Given the description of an element on the screen output the (x, y) to click on. 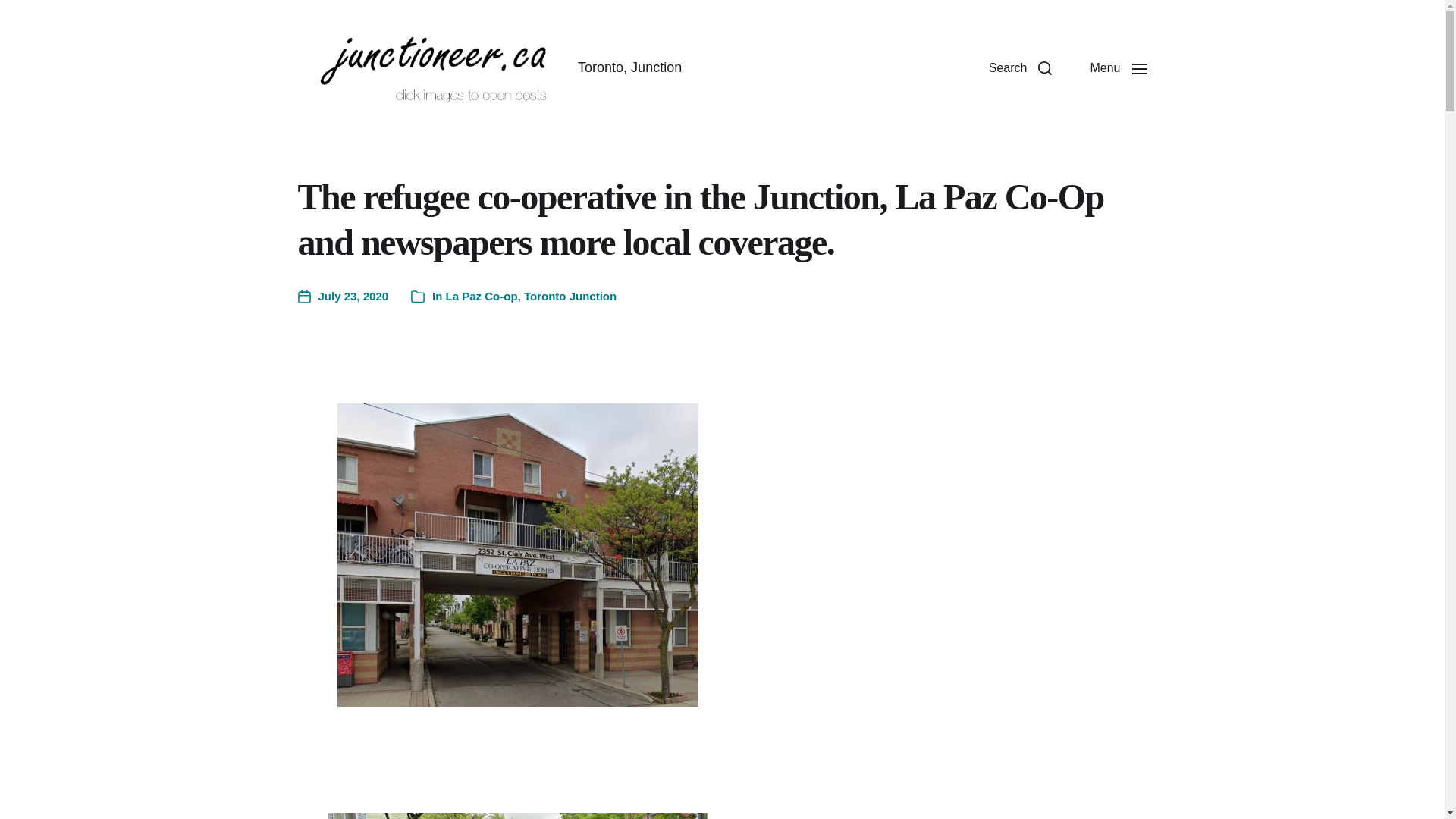
Search (1020, 68)
Menu (1118, 68)
La Paz Co-op (481, 295)
July 23, 2020 (342, 296)
Toronto Junction (569, 295)
